Given the description of an element on the screen output the (x, y) to click on. 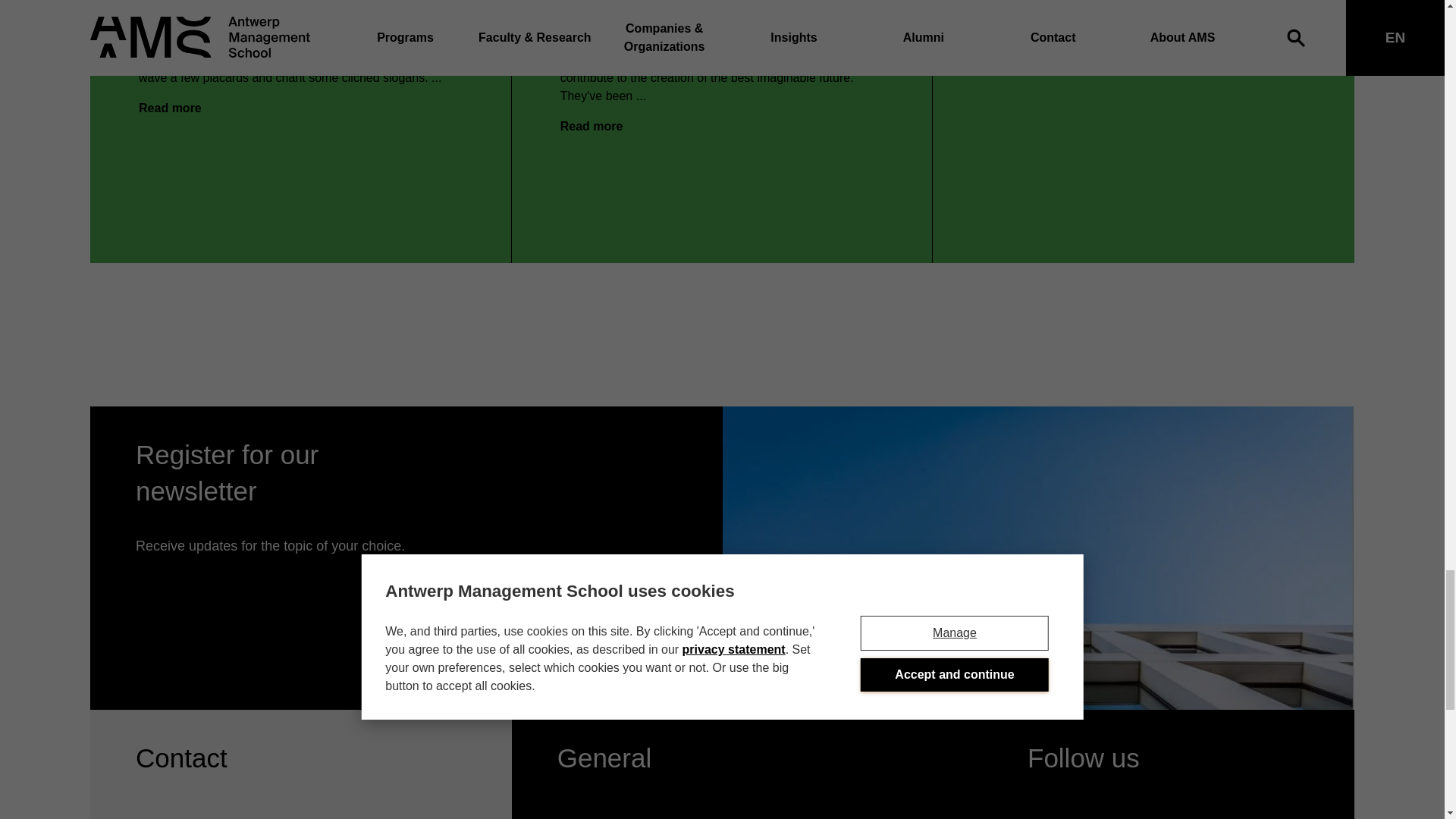
Receive updates (589, 667)
